Given the description of an element on the screen output the (x, y) to click on. 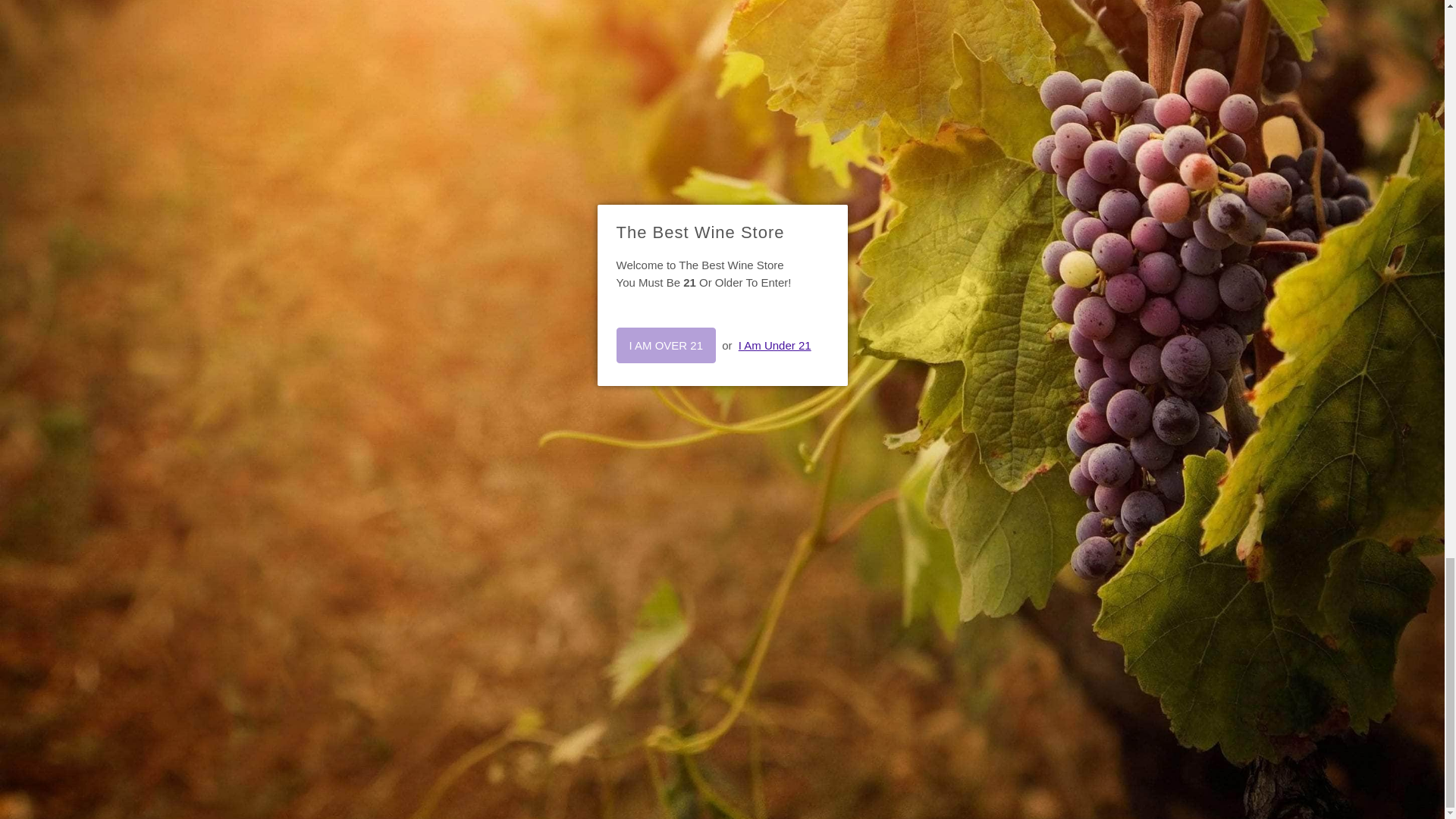
Discover (664, 692)
Apple Pay (587, 692)
Amazon (511, 692)
Sign Up (1074, 333)
Meta Pay (702, 692)
American Express (549, 692)
Google Pay (740, 692)
Diners Club (625, 692)
